Given the description of an element on the screen output the (x, y) to click on. 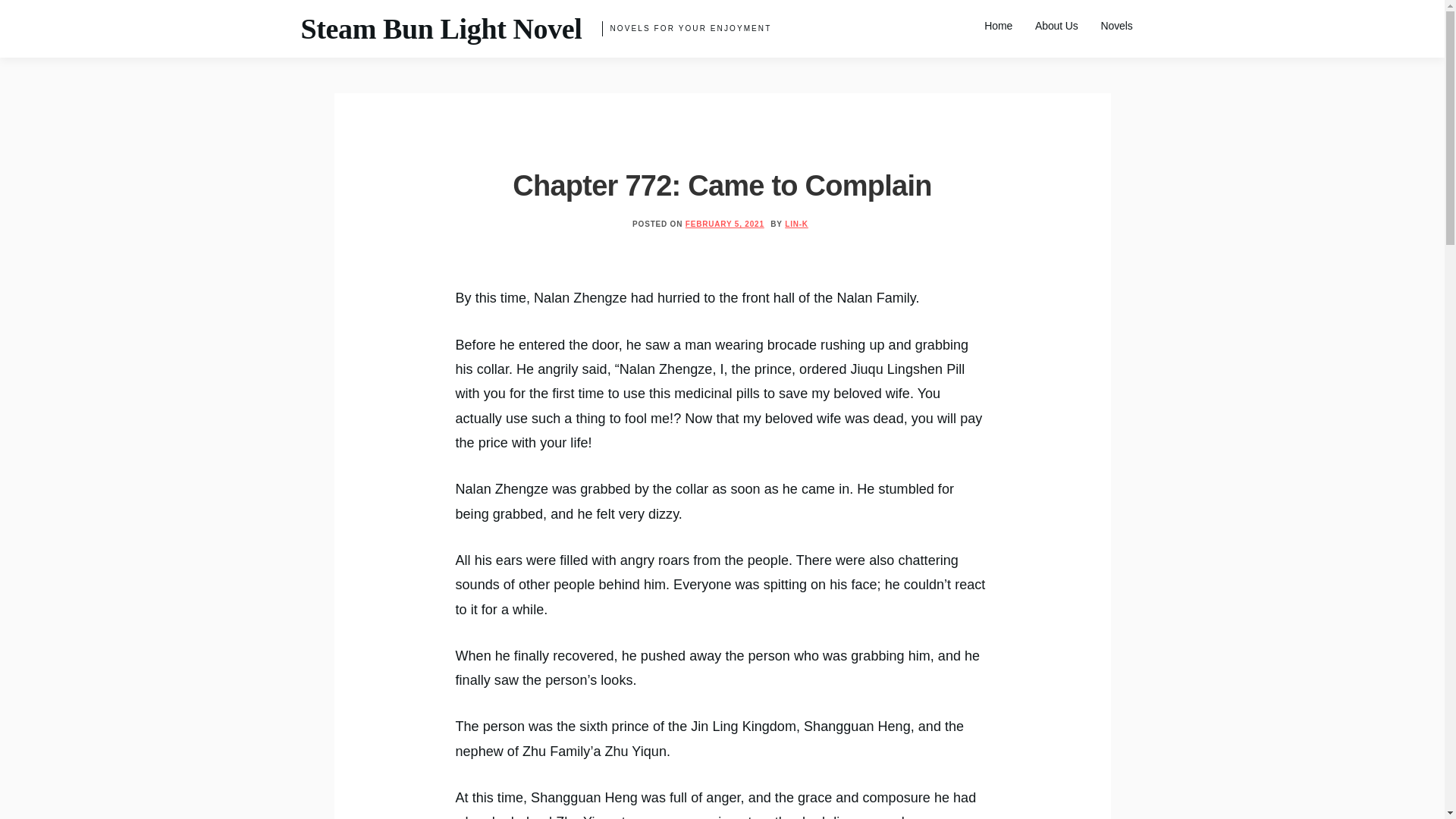
About Us (1056, 26)
FEBRUARY 5, 2021 (724, 224)
Novels (1116, 26)
Home (997, 26)
Steam Bun Light Novel (439, 29)
LIN-K (796, 224)
